Given the description of an element on the screen output the (x, y) to click on. 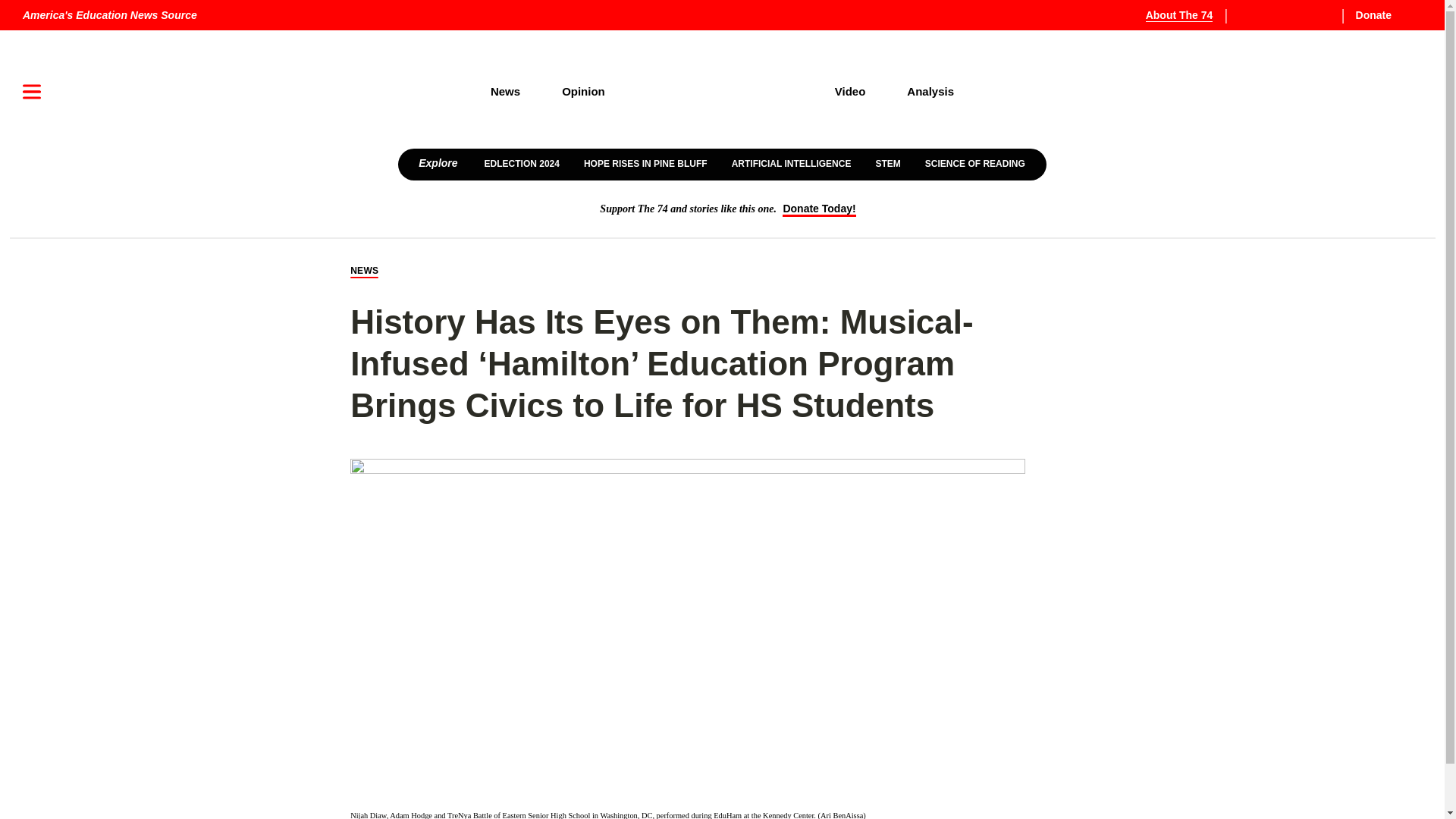
America's Education News Source (109, 15)
Analysis (930, 91)
Video (849, 91)
About The 74 (1187, 15)
Opinion (583, 91)
Home (719, 91)
News (504, 91)
Submit (1389, 139)
Donate (1385, 15)
